Given the description of an element on the screen output the (x, y) to click on. 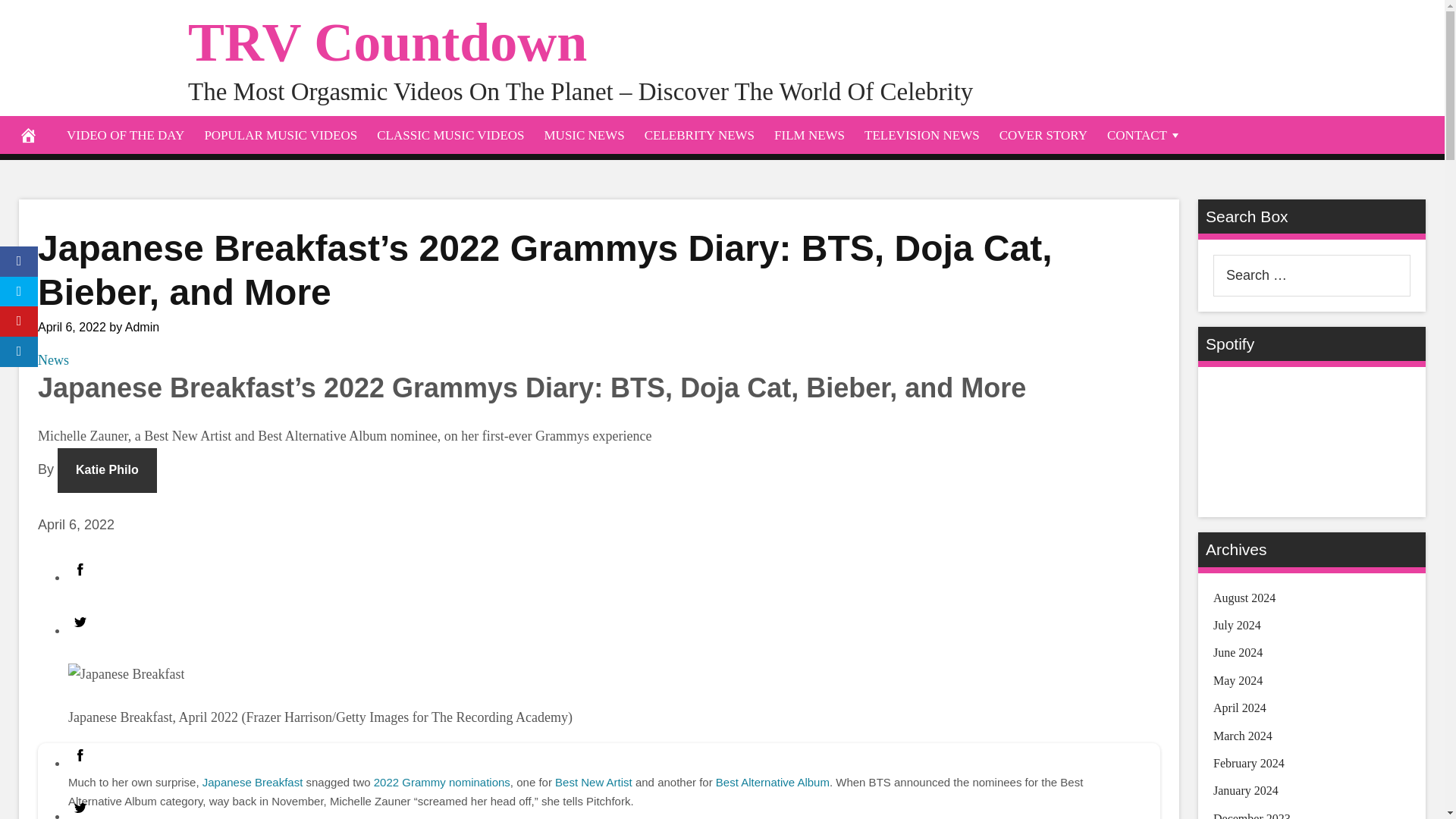
MUSIC NEWS (583, 134)
TELEVISION NEWS (922, 134)
CLASSIC MUSIC VIDEOS (450, 134)
CELEBRITY NEWS (699, 134)
VIDEO OF THE DAY (124, 134)
POPULAR MUSIC VIDEOS (279, 134)
Twitter (80, 807)
FILM NEWS (809, 134)
